Given the description of an element on the screen output the (x, y) to click on. 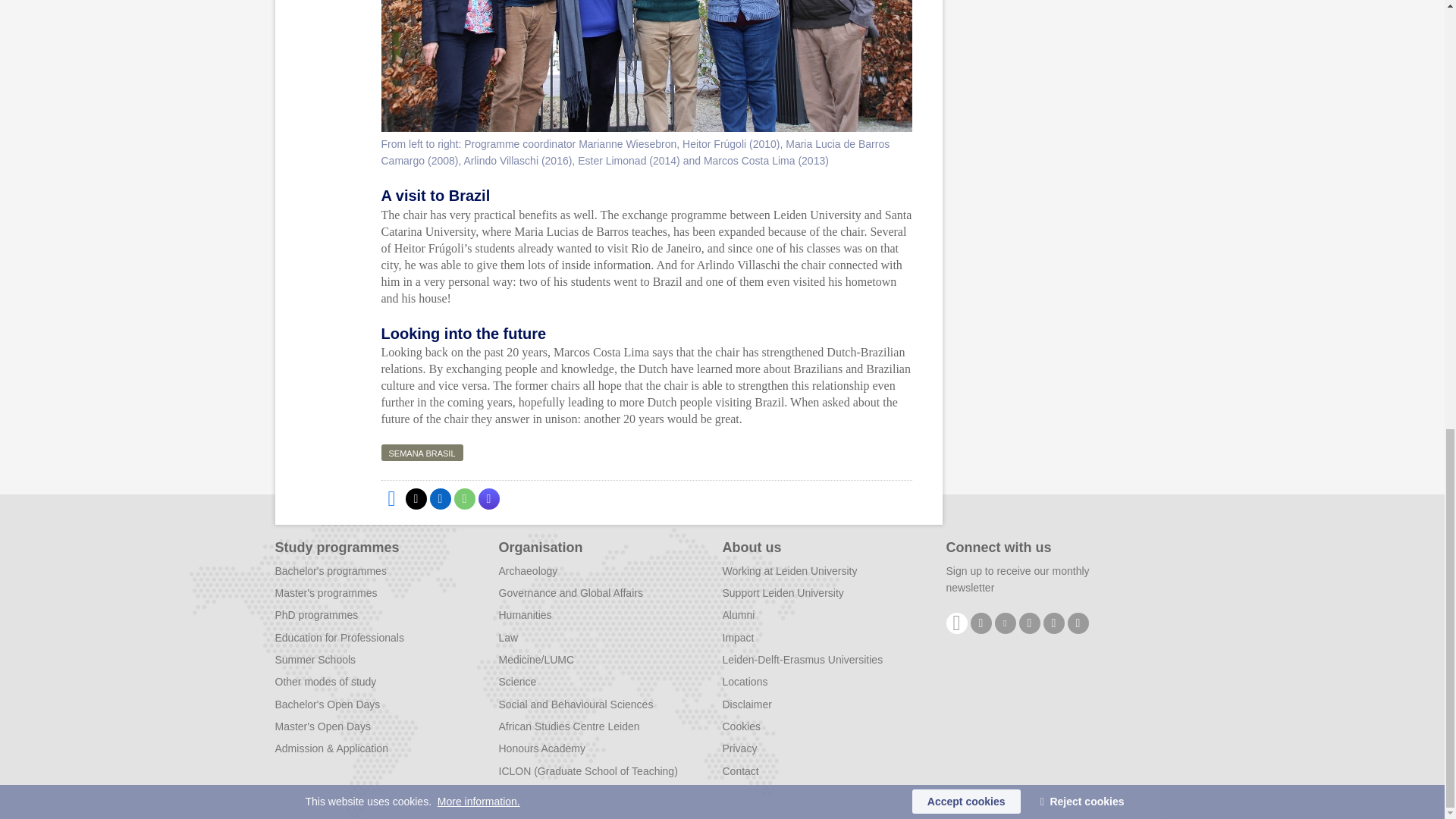
Share on X (415, 498)
Share by WhatsApp (463, 498)
Share by Mastodon (488, 498)
Share on LinkedIn (439, 498)
Share on Facebook (390, 498)
SEMANA BRASIL (421, 452)
